Given the description of an element on the screen output the (x, y) to click on. 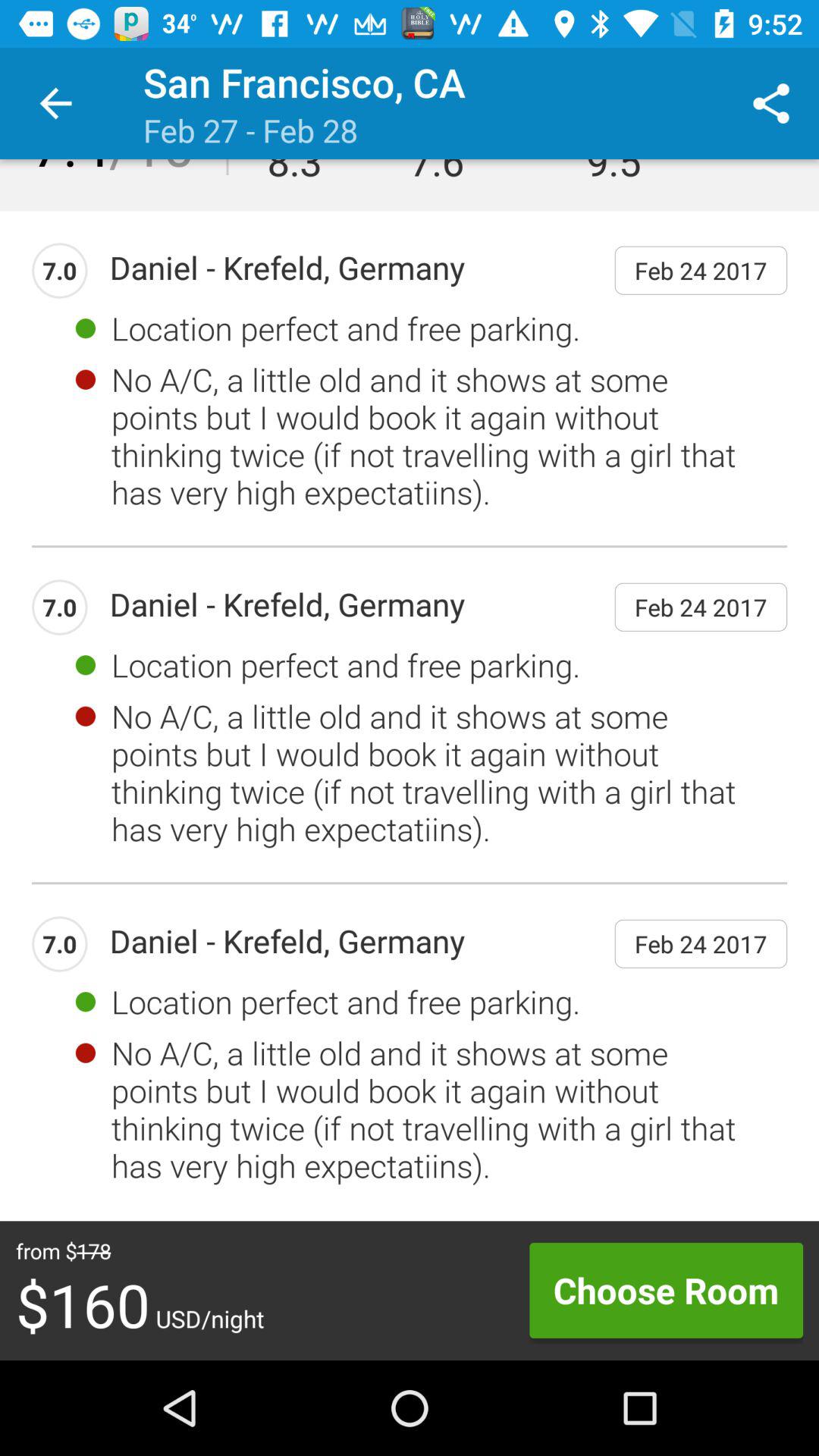
launch item at the bottom right corner (666, 1290)
